Given the description of an element on the screen output the (x, y) to click on. 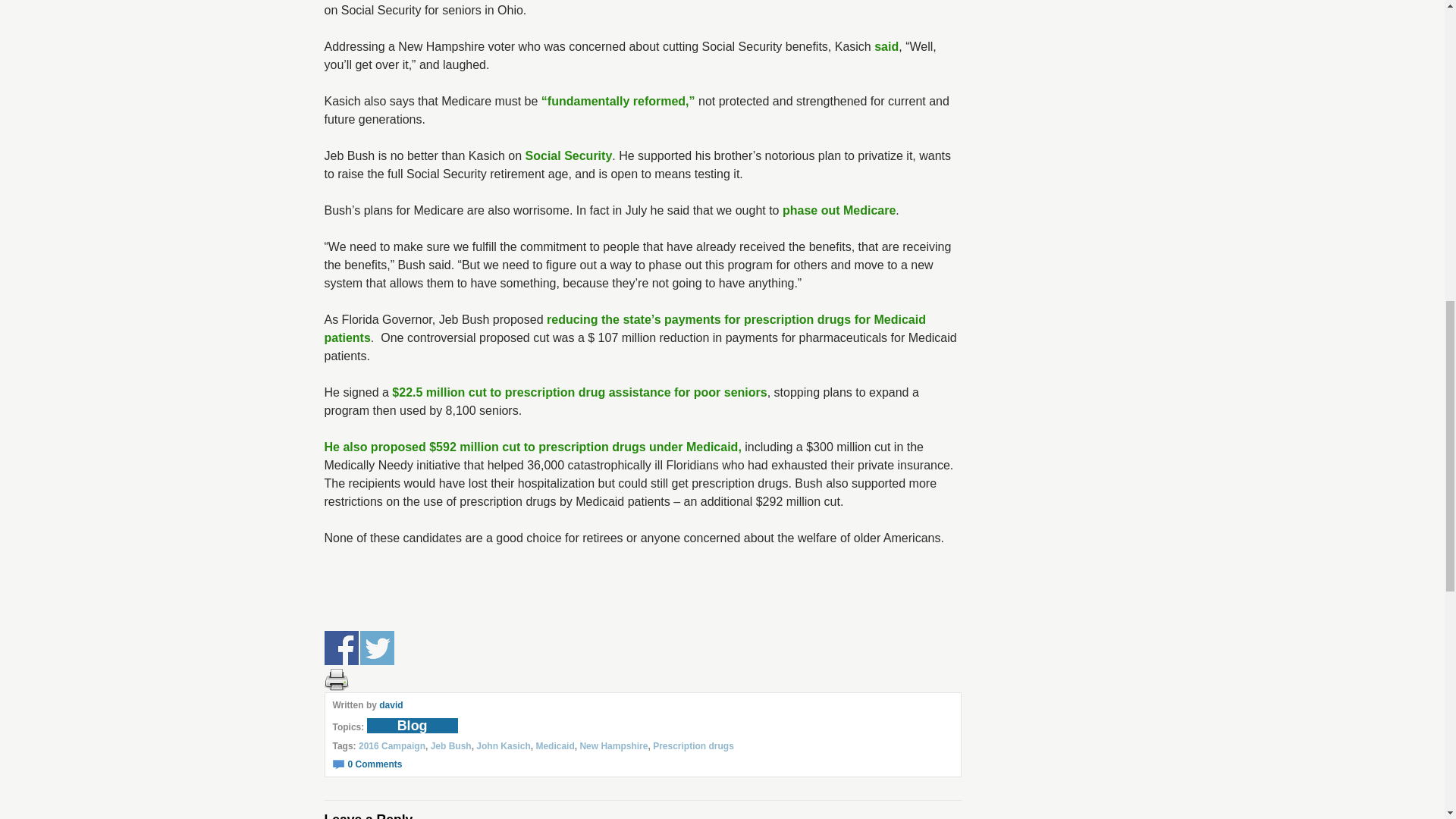
2016 Campaign (391, 746)
phase out Medicare (839, 210)
Blog (412, 725)
said (886, 46)
Social Security (568, 155)
david (390, 705)
Posts by david (390, 705)
